Given the description of an element on the screen output the (x, y) to click on. 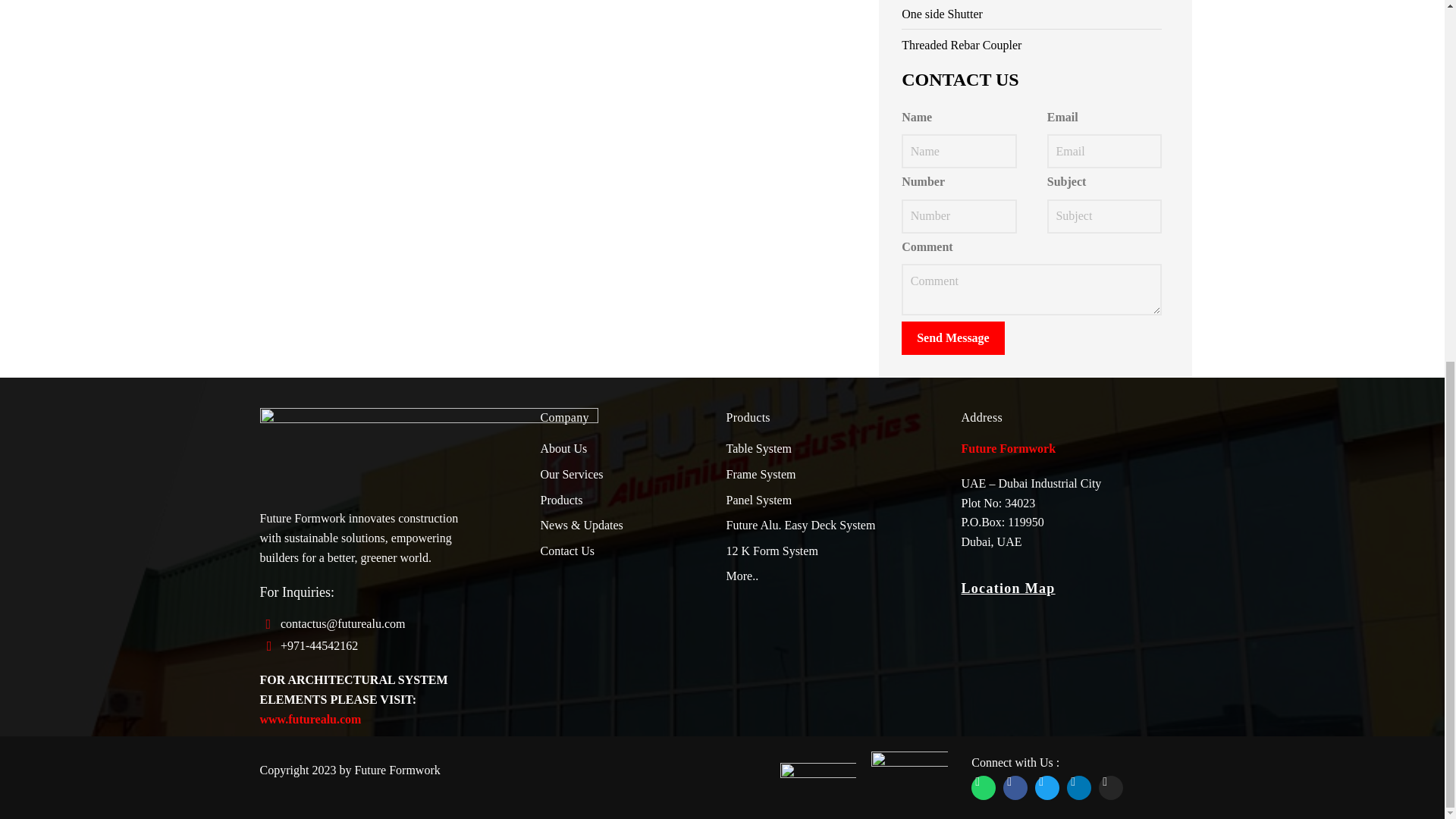
One side Shutter (1031, 14)
Send Message (952, 338)
Send Message (952, 338)
Threaded Rebar Coupler (1031, 45)
